Given the description of an element on the screen output the (x, y) to click on. 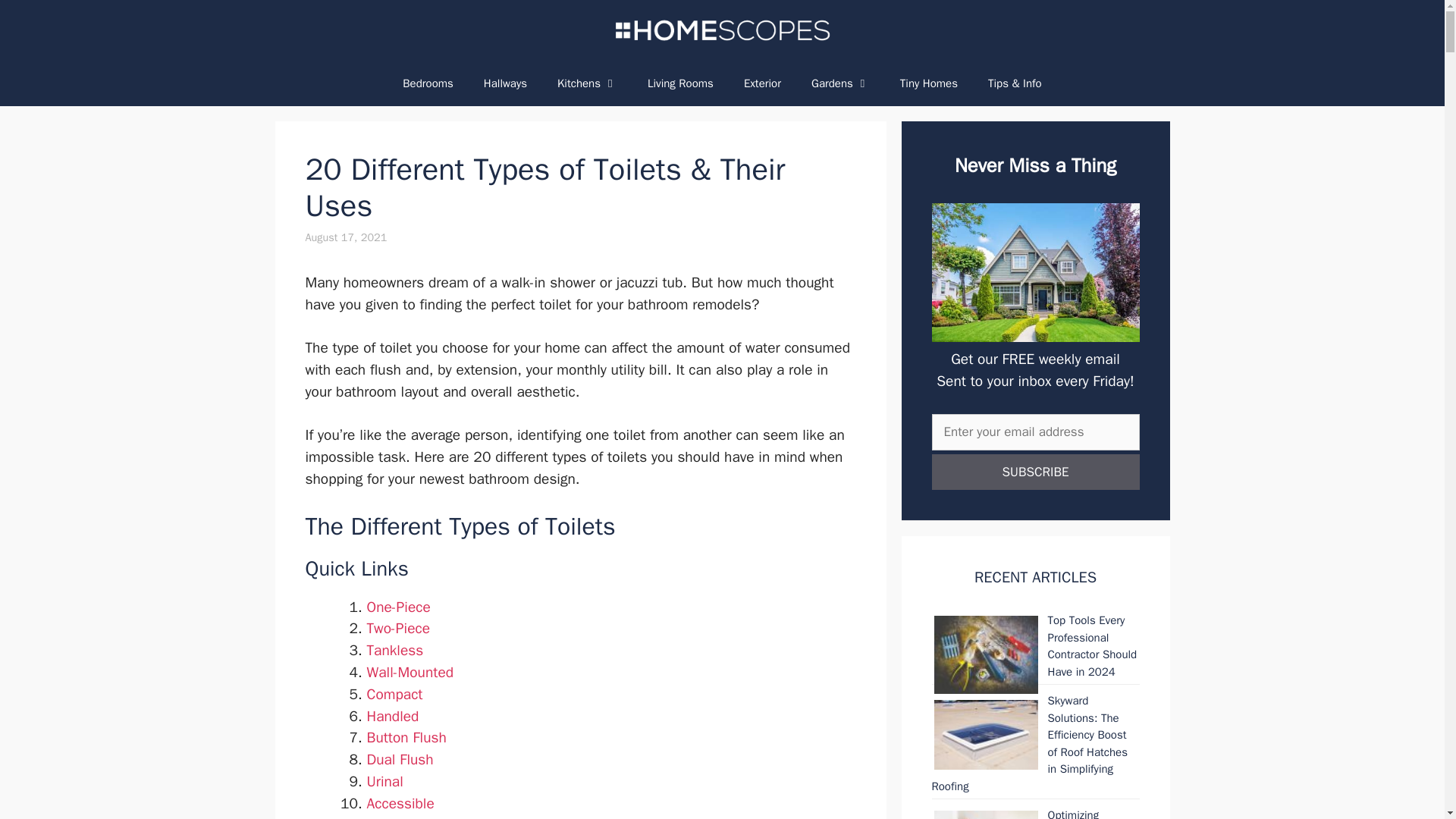
Handled (392, 716)
Subscribe (1034, 472)
Dual Flush (399, 760)
Compact (394, 694)
Button Flush (406, 737)
Exterior (762, 83)
Tankless (394, 650)
Accessible (399, 803)
Hallways (504, 83)
Attached Bidet (413, 817)
Wall-Mounted (410, 672)
Bedrooms (427, 83)
Gardens (840, 83)
Urinal (384, 782)
One-Piece (398, 607)
